Given the description of an element on the screen output the (x, y) to click on. 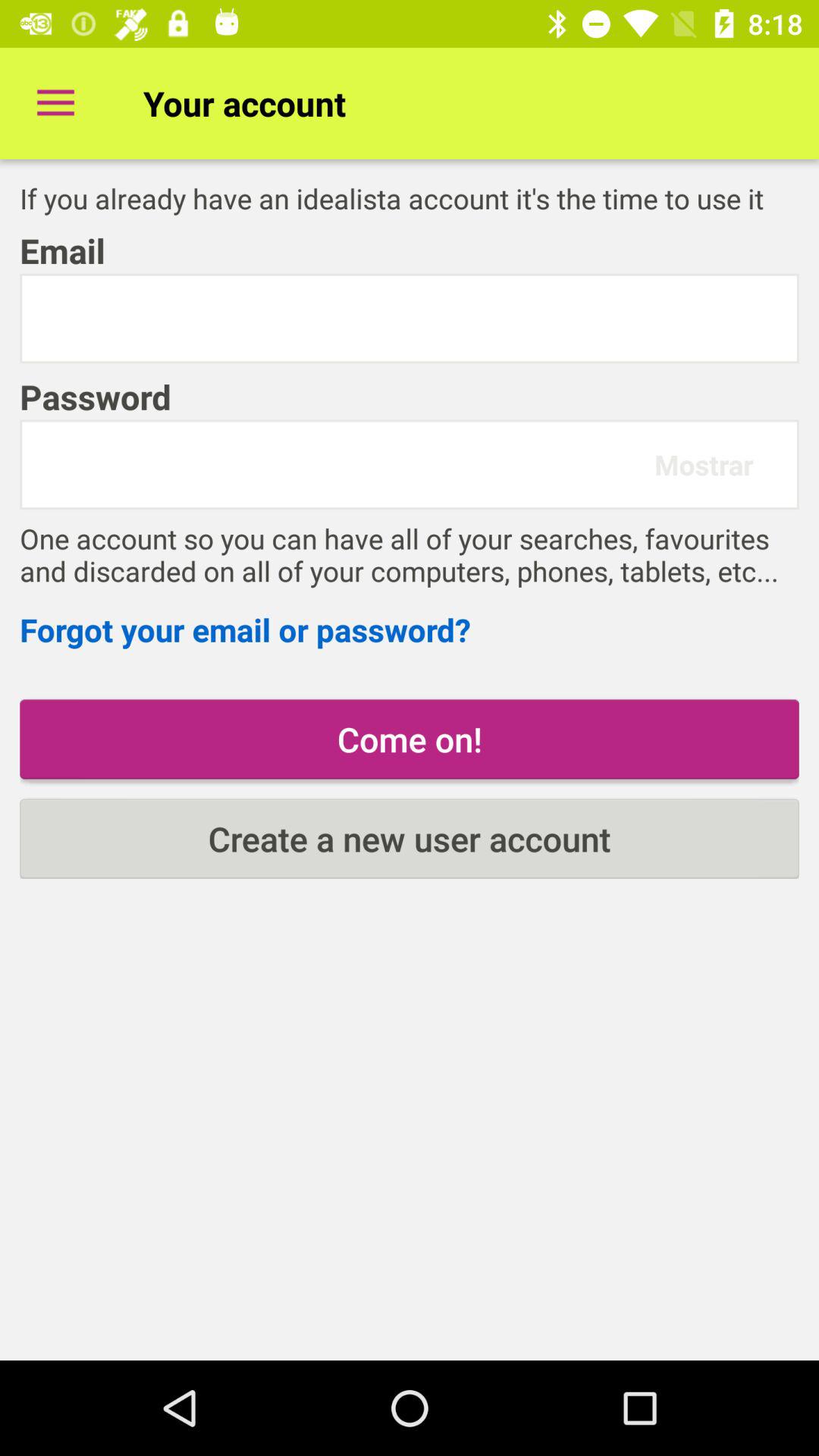
flip to the forgot your email item (409, 629)
